Given the description of an element on the screen output the (x, y) to click on. 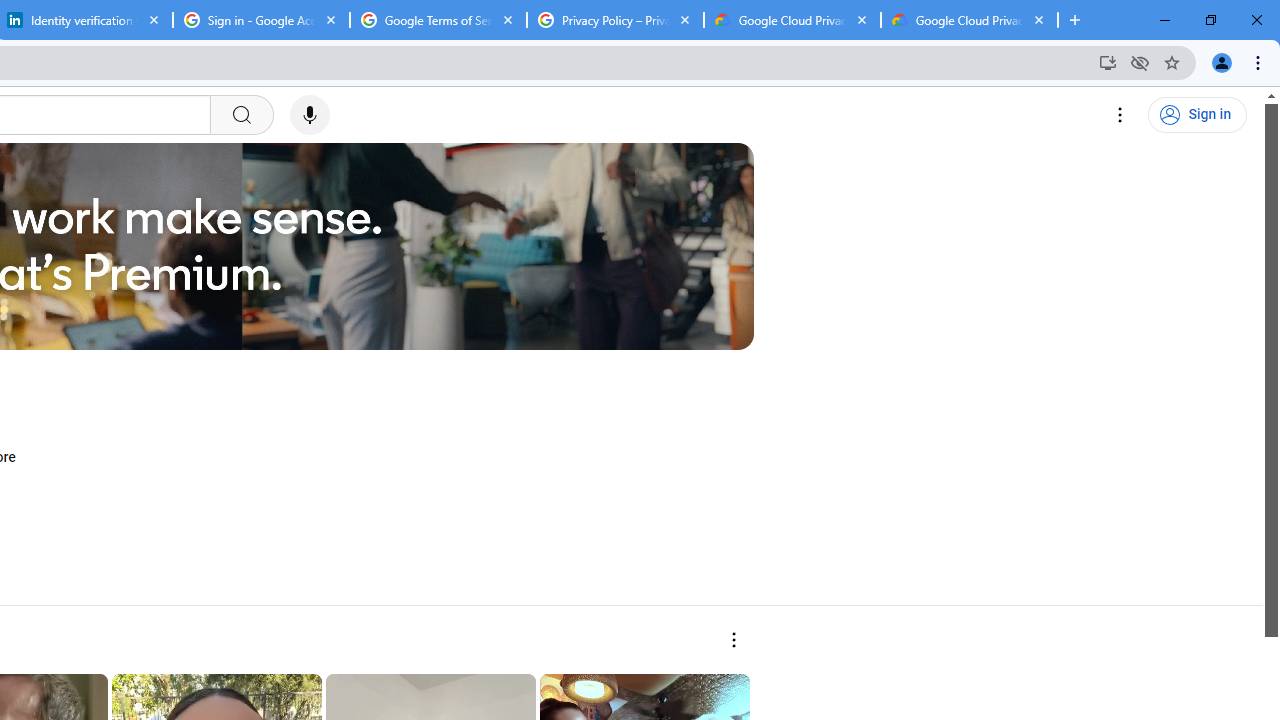
Install YouTube (1107, 62)
Sign in - Google Accounts (260, 20)
Google Cloud Privacy Notice (969, 20)
Search with your voice (309, 115)
Google Cloud Privacy Notice (792, 20)
